Given the description of an element on the screen output the (x, y) to click on. 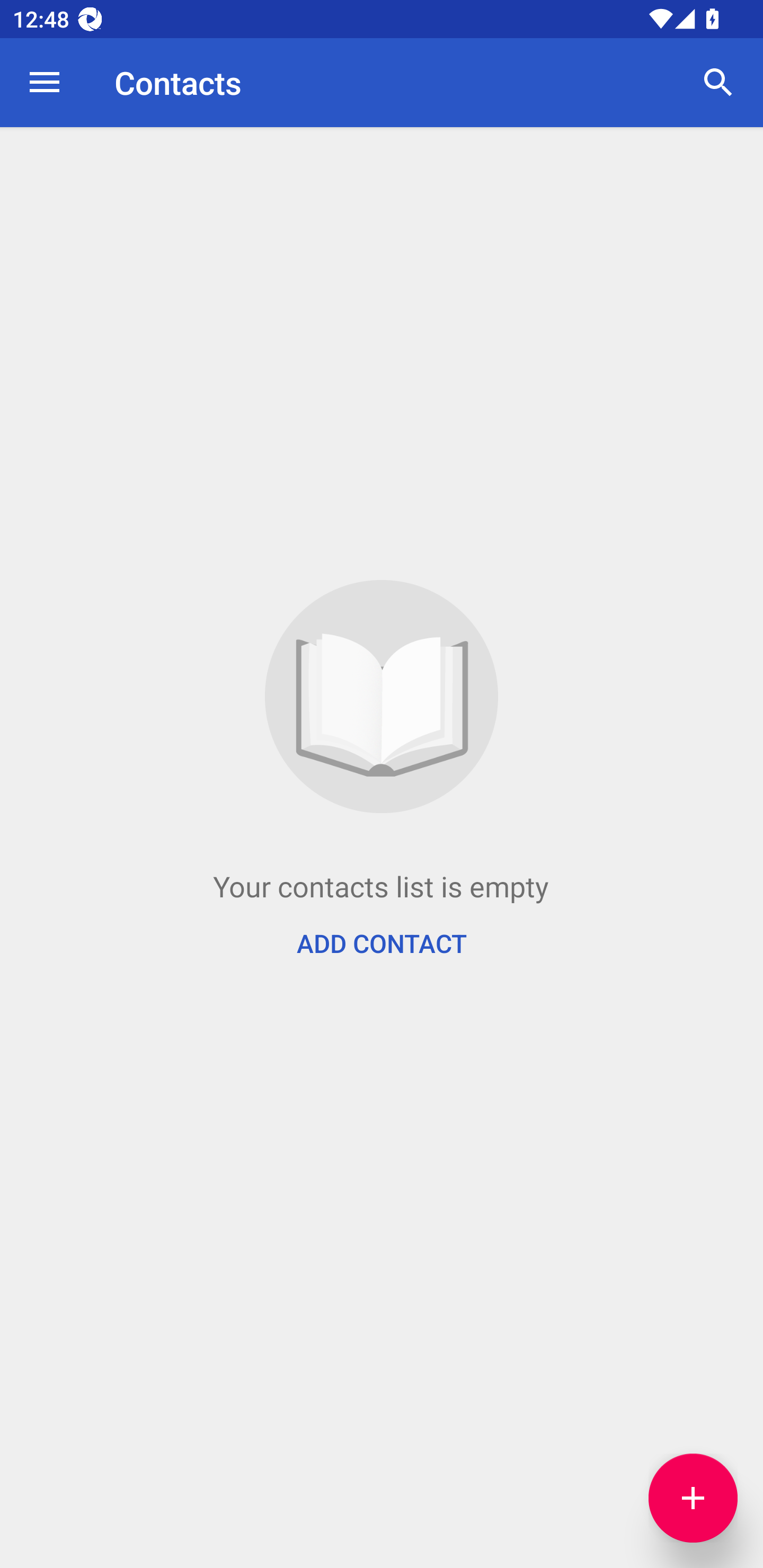
Open navigation drawer (44, 82)
Search contacts (718, 81)
ADD CONTACT (381, 942)
Create new contact (692, 1497)
